Given the description of an element on the screen output the (x, y) to click on. 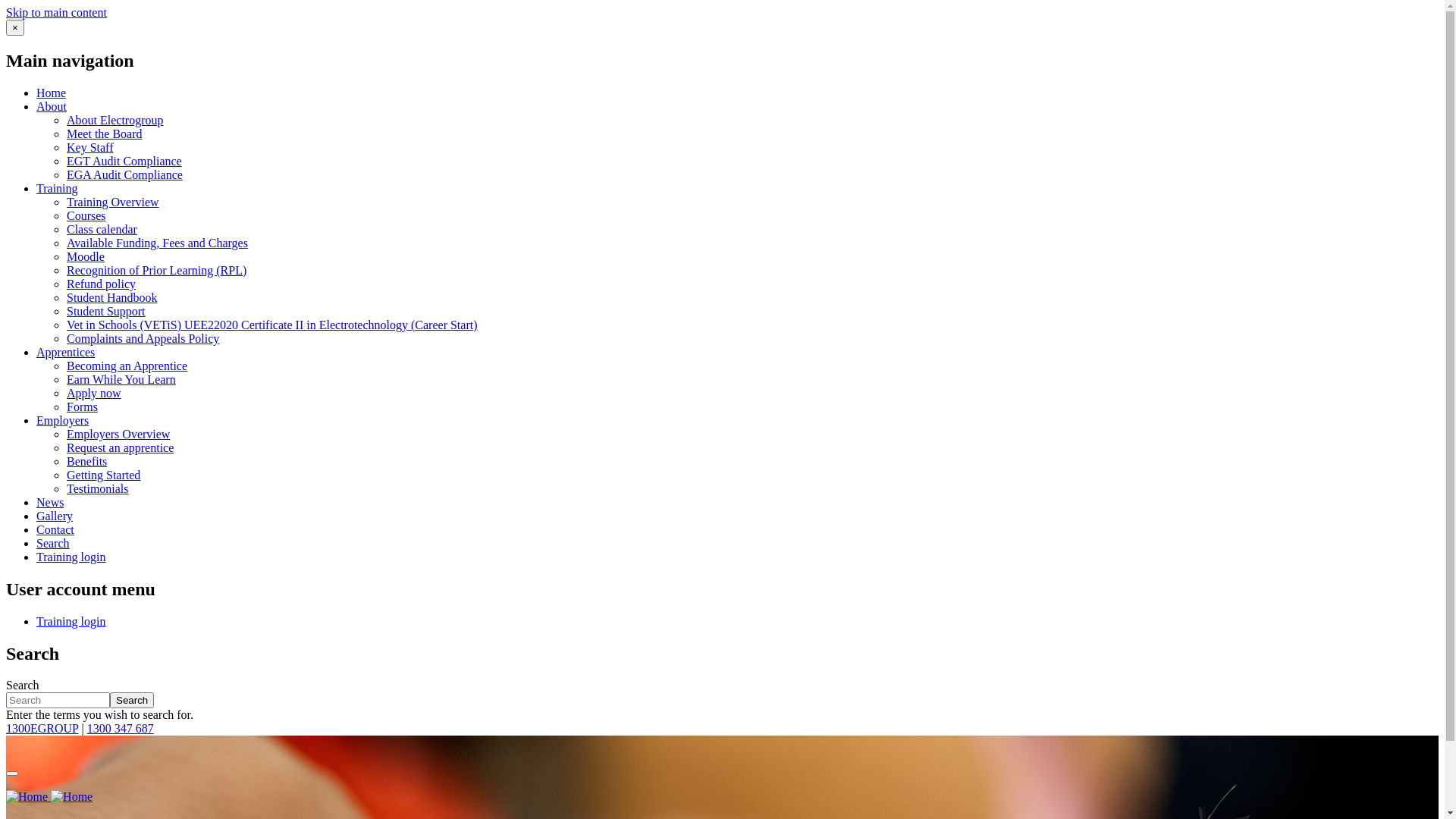
Employers Element type: text (62, 420)
News Element type: text (49, 501)
1300 347 687 Element type: text (120, 727)
Forms Element type: text (81, 406)
Getting Started Element type: text (103, 474)
Key Staff Element type: text (89, 147)
Training login Element type: text (70, 556)
Enter the terms you wish to search for. Element type: hover (57, 700)
Apply now Element type: text (93, 392)
Student Support Element type: text (105, 310)
About Element type: text (51, 106)
Moodle Element type: text (85, 256)
Courses Element type: text (86, 215)
Request an apprentice Element type: text (119, 447)
Meet the Board Element type: text (104, 133)
Gallery Element type: text (54, 515)
Recognition of Prior Learning (RPL) Element type: text (156, 269)
Available Funding, Fees and Charges Element type: text (156, 242)
Skip to main content Element type: text (56, 12)
EGA Audit Compliance Element type: text (124, 174)
Testimonials Element type: text (97, 488)
Student Handbook Element type: text (111, 297)
EGT Audit Compliance Element type: text (124, 160)
Complaints and Appeals Policy Element type: text (142, 338)
Class calendar Element type: text (101, 228)
Search Element type: text (131, 700)
Becoming an Apprentice Element type: text (126, 365)
Contact Element type: text (55, 529)
Home Element type: text (50, 92)
Benefits Element type: text (86, 461)
Refund policy Element type: text (100, 283)
About Electrogroup Element type: text (114, 119)
Training Overview Element type: text (112, 201)
Training login Element type: text (70, 621)
1300EGROUP Element type: text (42, 727)
Training Element type: text (57, 188)
Apprentices Element type: text (65, 351)
Earn While You Learn Element type: text (120, 379)
Employers Overview Element type: text (117, 433)
Home Element type: hover (49, 796)
Search Element type: text (52, 542)
